Given the description of an element on the screen output the (x, y) to click on. 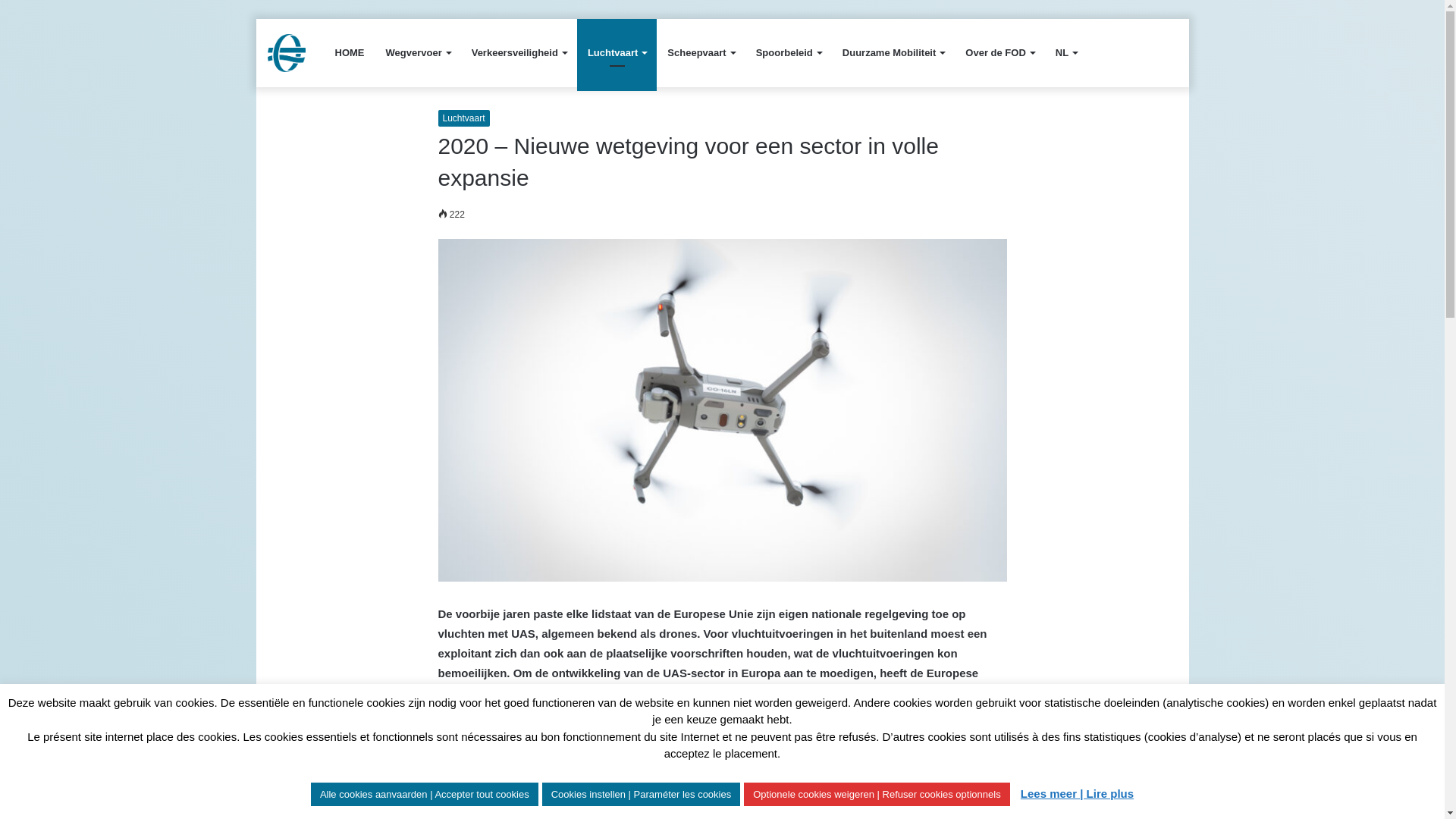
HOME Element type: text (349, 52)
Duurzame Mobiliteit Element type: text (893, 52)
Wegvervoer Element type: text (417, 52)
Optionele cookies weigeren | Refuser cookies optionnels Element type: text (876, 794)
Scheepvaart Element type: text (700, 52)
Spoorbeleid Element type: text (788, 52)
Luchtvaart Element type: text (616, 52)
Jaarverslag | Rapport annuel Element type: hover (285, 53)
Luchtvaart Element type: text (463, 117)
Lees meer | Lire plus Element type: text (1076, 793)
Verkeersveiligheid Element type: text (519, 52)
Alle cookies aanvaarden | Accepter tout cookies Element type: text (424, 794)
Over de FOD Element type: text (999, 52)
NL Element type: text (1065, 52)
